Given the description of an element on the screen output the (x, y) to click on. 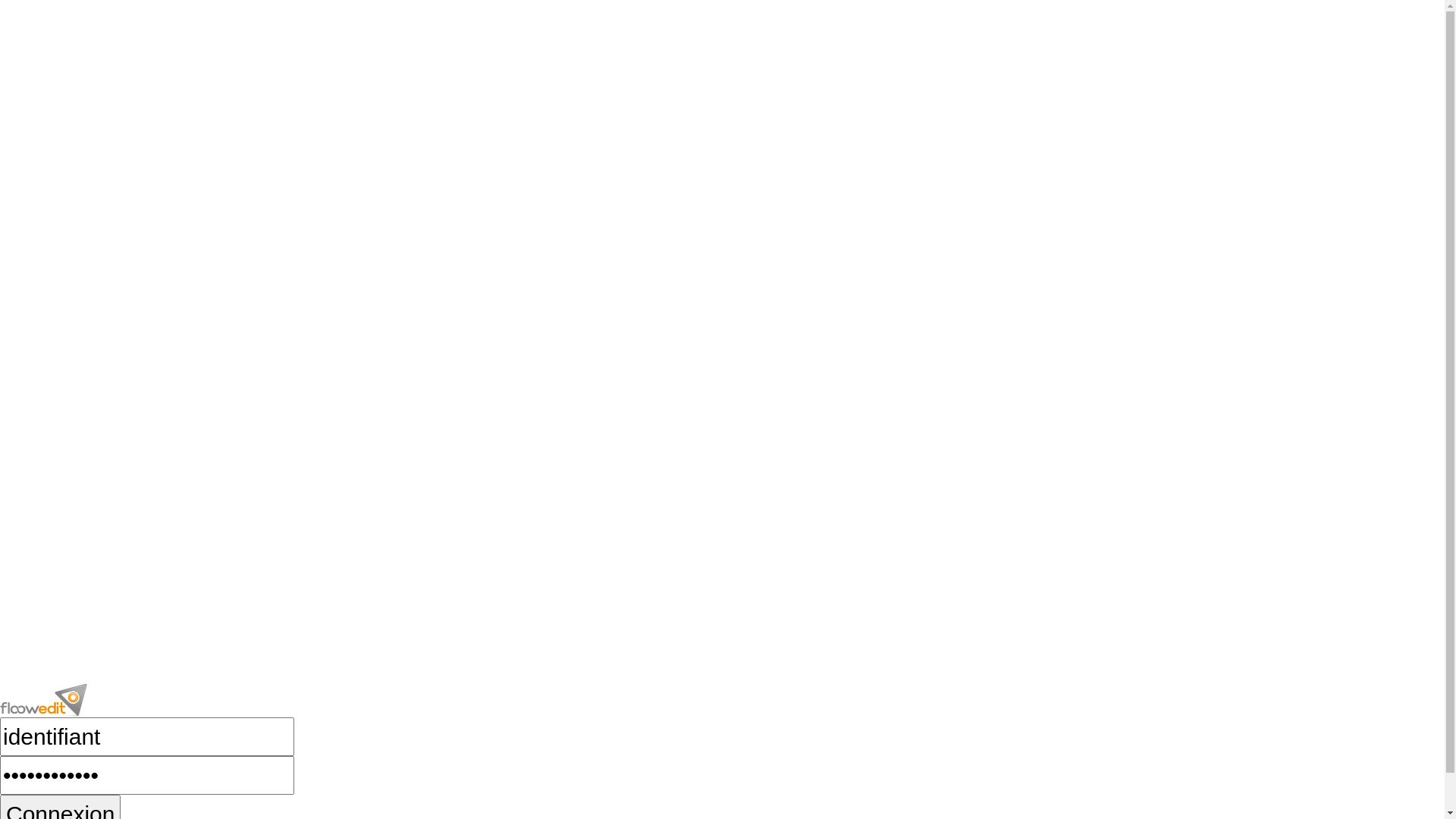
floowedit Element type: hover (43, 700)
